Given the description of an element on the screen output the (x, y) to click on. 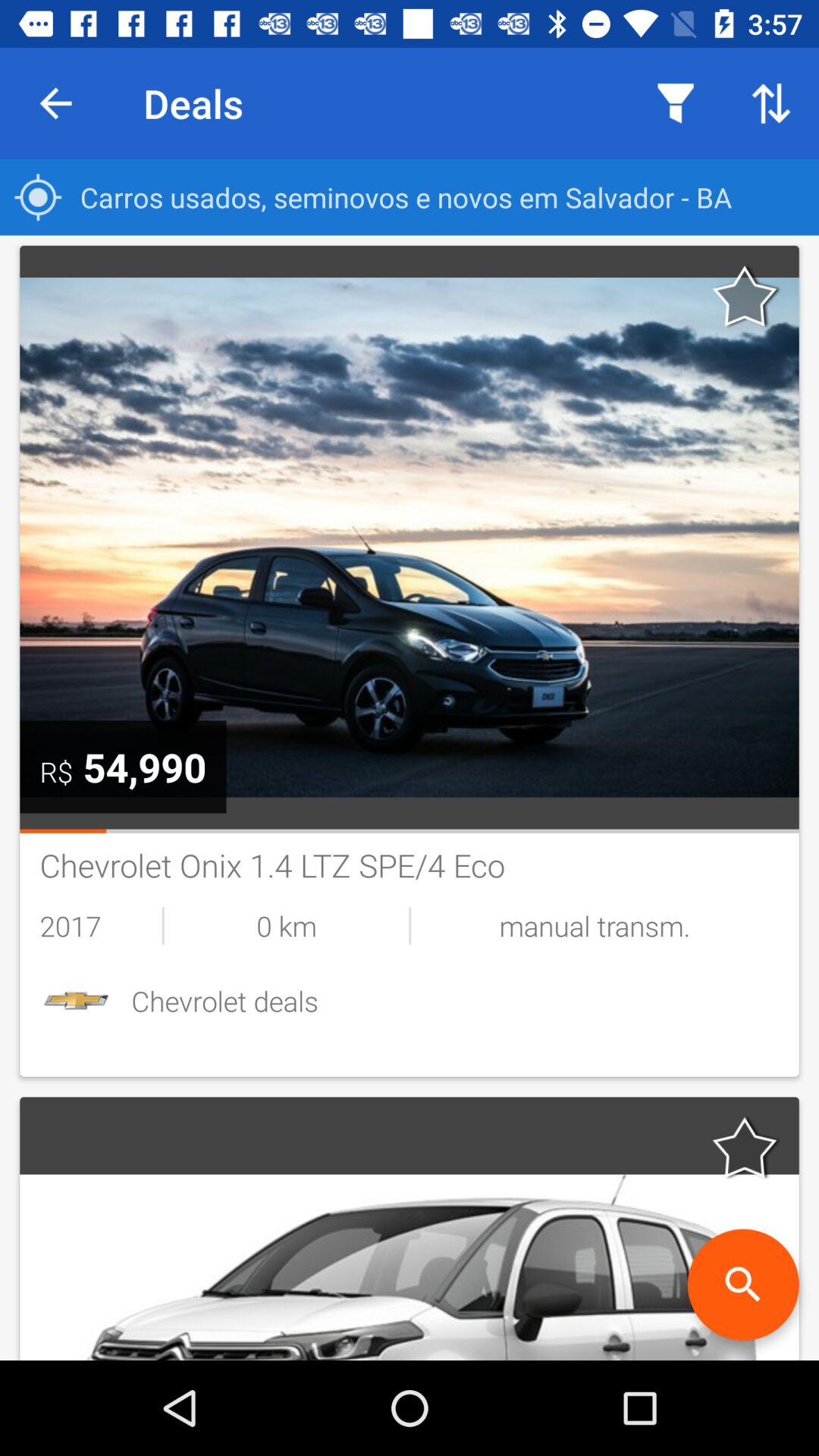
jump to carros usados seminovos item (409, 197)
